Given the description of an element on the screen output the (x, y) to click on. 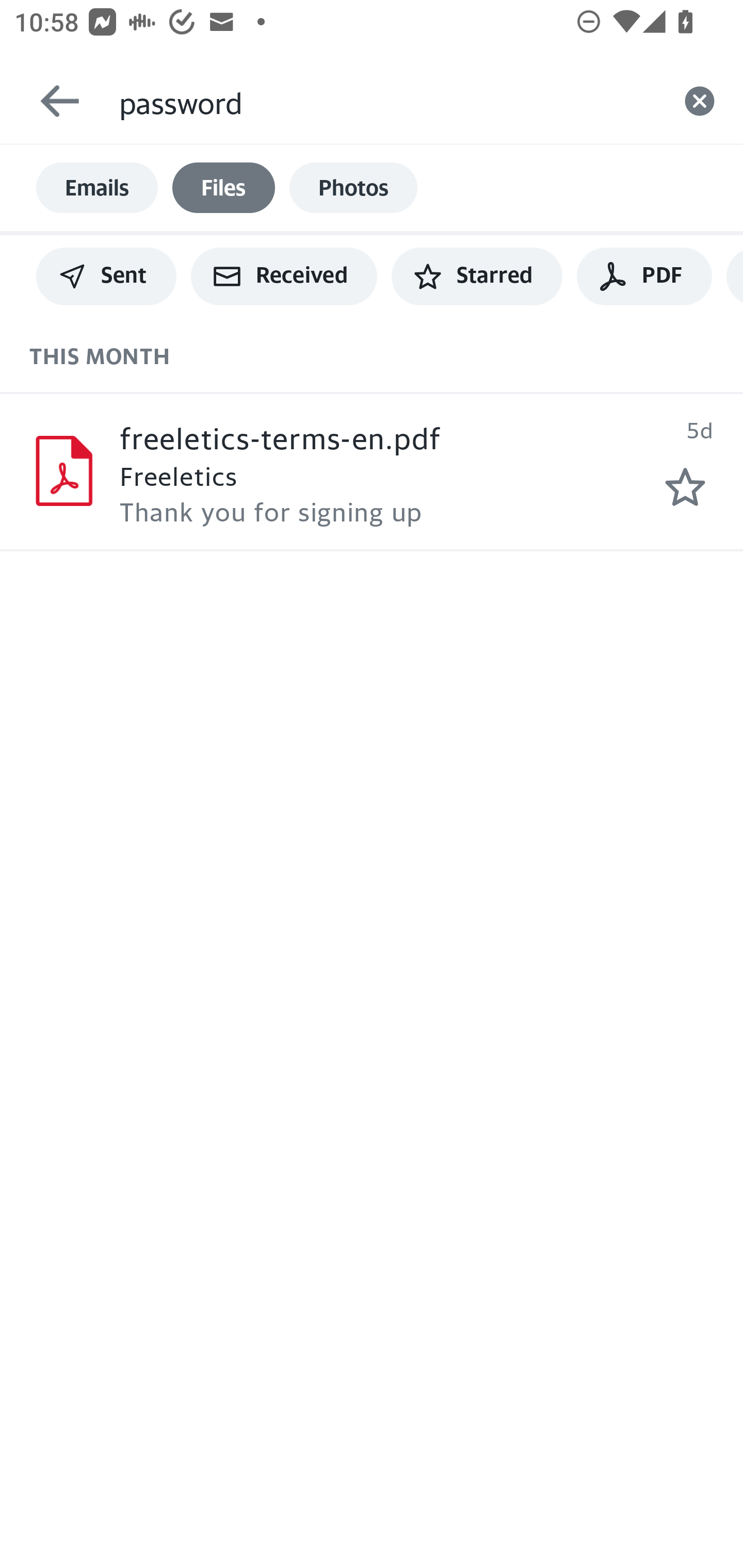
Back (50, 101)
password (387, 101)
Clear (699, 101)
Emails (96, 188)
Files (223, 188)
Photos (353, 188)
Sent (106, 276)
Received (283, 276)
Starred (476, 276)
PDF (643, 276)
